Given the description of an element on the screen output the (x, y) to click on. 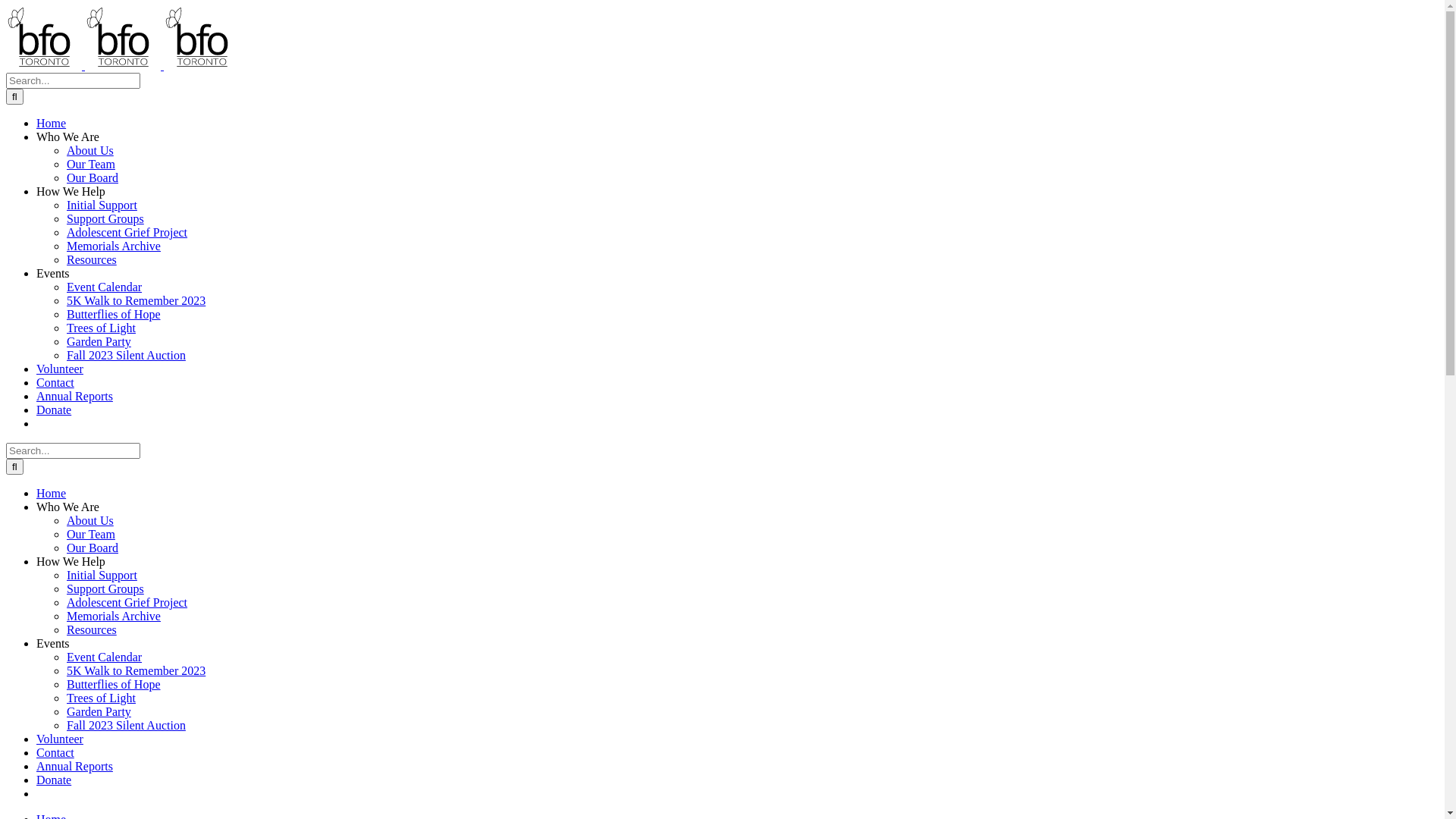
Butterflies of Hope Element type: text (113, 683)
Who We Are Element type: text (67, 506)
Home Element type: text (50, 122)
Donate Element type: text (53, 409)
Annual Reports Element type: text (74, 765)
Our Team Element type: text (90, 163)
Resources Element type: text (91, 629)
About Us Element type: text (89, 150)
Volunteer Element type: text (59, 368)
Resources Element type: text (91, 259)
Who We Are Element type: text (67, 136)
How We Help Element type: text (70, 191)
Memorials Archive Element type: text (113, 615)
Garden Party Element type: text (98, 711)
Support Groups Element type: text (105, 588)
Event Calendar Element type: text (103, 286)
Event Calendar Element type: text (103, 656)
About Us Element type: text (89, 520)
5K Walk to Remember 2023 Element type: text (135, 300)
Annual Reports Element type: text (74, 395)
5K Walk to Remember 2023 Element type: text (135, 670)
Memorials Archive Element type: text (113, 245)
Volunteer Element type: text (59, 738)
Garden Party Element type: text (98, 341)
Fall 2023 Silent Auction Element type: text (125, 724)
Skip to content Element type: text (5, 5)
Trees of Light Element type: text (100, 697)
Fall 2023 Silent Auction Element type: text (125, 354)
Events Element type: text (52, 643)
Adolescent Grief Project Element type: text (126, 602)
Home Element type: text (50, 492)
Initial Support Element type: text (101, 204)
Initial Support Element type: text (101, 574)
Contact Element type: text (55, 752)
Donate Element type: text (53, 779)
Support Groups Element type: text (105, 218)
Events Element type: text (52, 272)
Our Team Element type: text (90, 533)
Our Board Element type: text (92, 177)
Trees of Light Element type: text (100, 327)
Contact Element type: text (55, 382)
Adolescent Grief Project Element type: text (126, 231)
How We Help Element type: text (70, 561)
Butterflies of Hope Element type: text (113, 313)
Our Board Element type: text (92, 547)
